Given the description of an element on the screen output the (x, y) to click on. 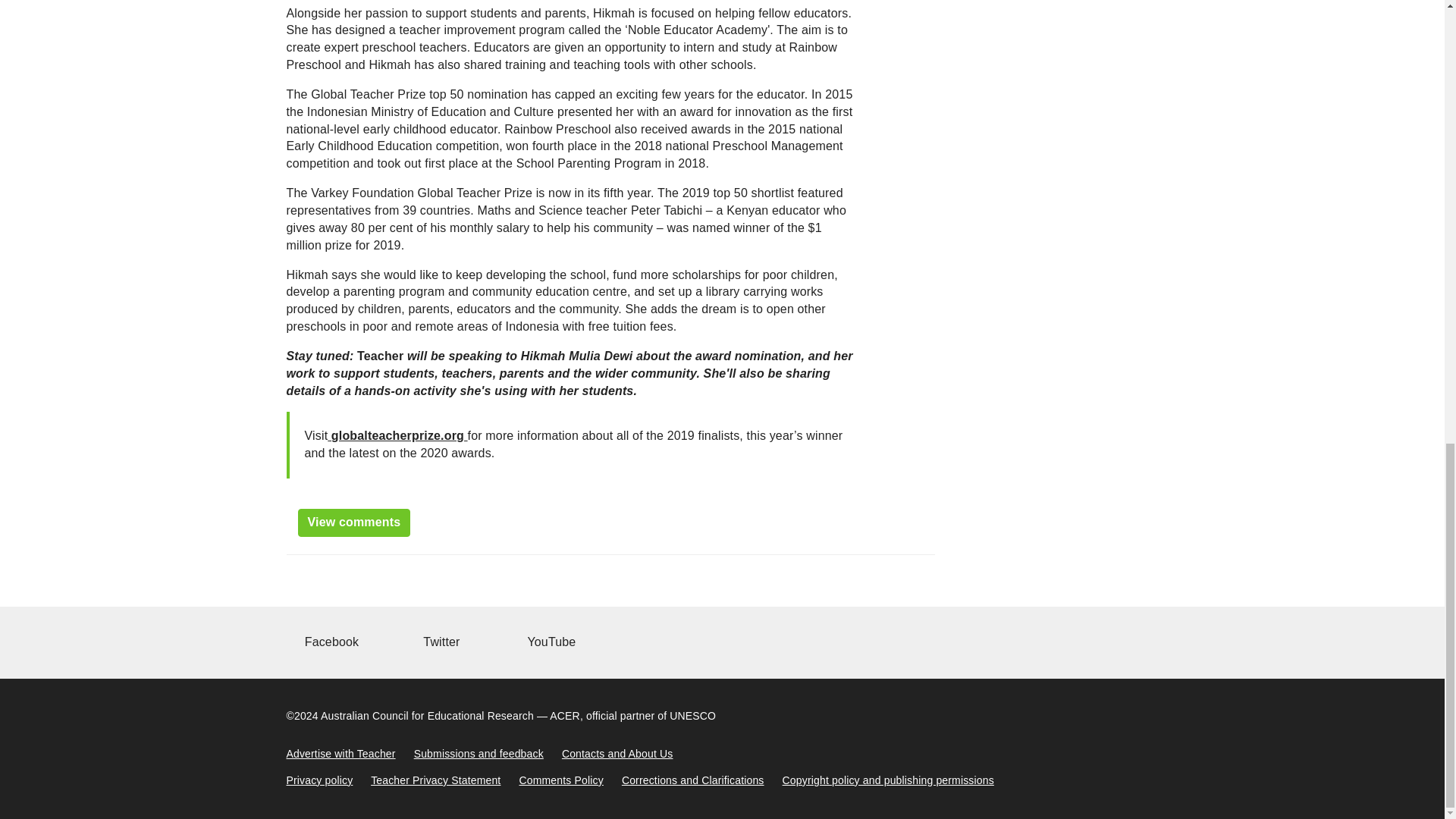
Australian Council for Educational Research (427, 715)
Teacher on Twitter (439, 641)
globalteacherprize.org (397, 435)
Facebook (330, 641)
View comments (353, 522)
Teacher on YouTube (548, 641)
Teacher on Facebook (330, 641)
